Given the description of an element on the screen output the (x, y) to click on. 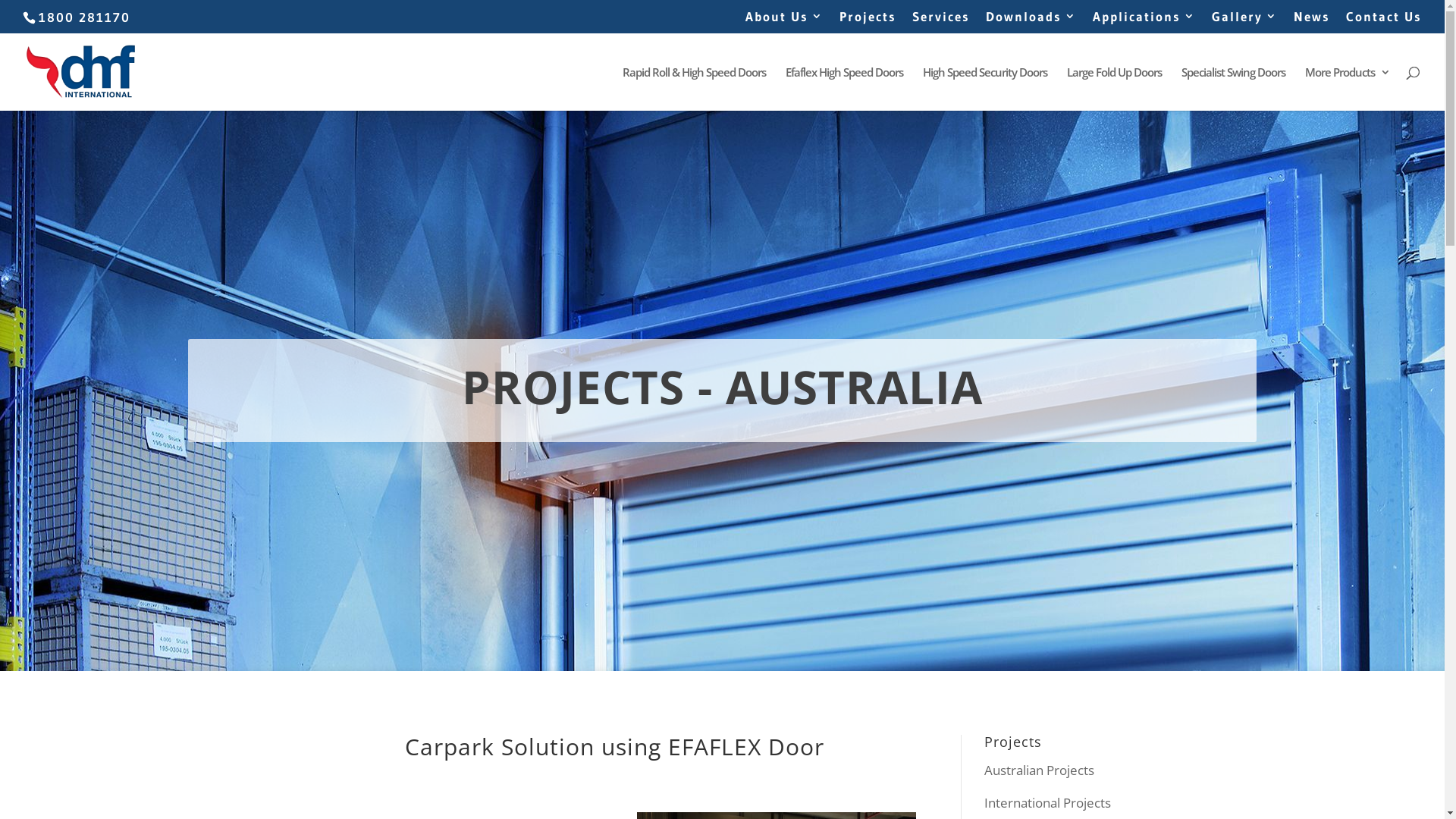
Efaflex High Speed Doors Element type: text (844, 88)
Projects Element type: text (867, 20)
Specialist Swing Doors Element type: text (1233, 88)
Services Element type: text (940, 20)
Downloads Element type: text (1030, 20)
Applications Element type: text (1143, 20)
About Us Element type: text (784, 20)
Large Fold Up Doors Element type: text (1113, 88)
High Speed Security Doors Element type: text (984, 88)
More Products Element type: text (1347, 88)
Australian Projects Element type: text (1039, 769)
News Element type: text (1311, 20)
Rapid Roll & High Speed Doors Element type: text (693, 88)
International Projects Element type: text (1047, 802)
Contact Us Element type: text (1383, 20)
Gallery Element type: text (1244, 20)
